Given the description of an element on the screen output the (x, y) to click on. 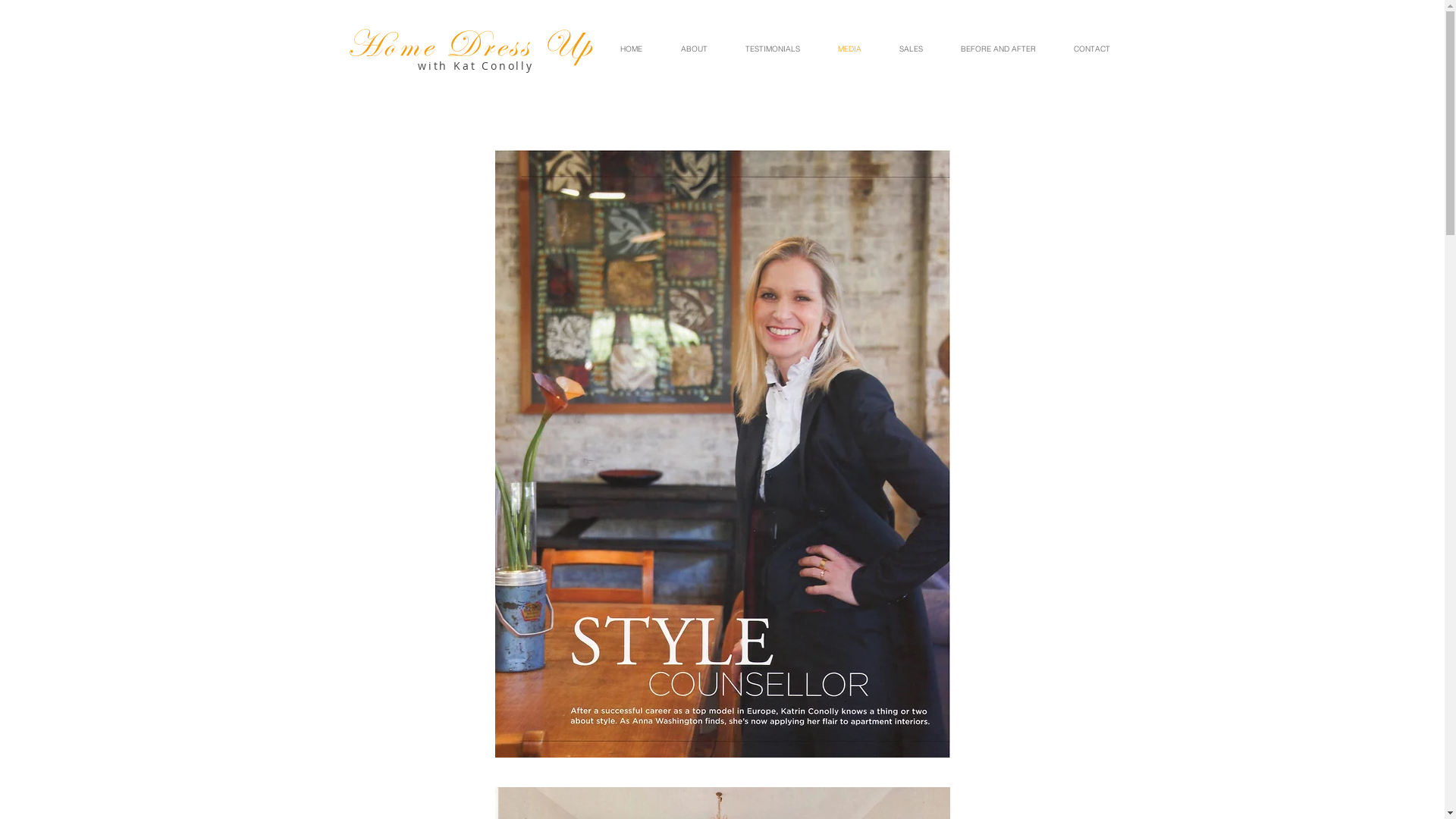
CONTACT Element type: text (1091, 48)
HOME Element type: text (630, 48)
MEDIA Element type: text (849, 48)
BEFORE AND AFTER Element type: text (997, 48)
ABOUT Element type: text (693, 48)
TESTIMONIALS Element type: text (772, 48)
SALES Element type: text (910, 48)
